Given the description of an element on the screen output the (x, y) to click on. 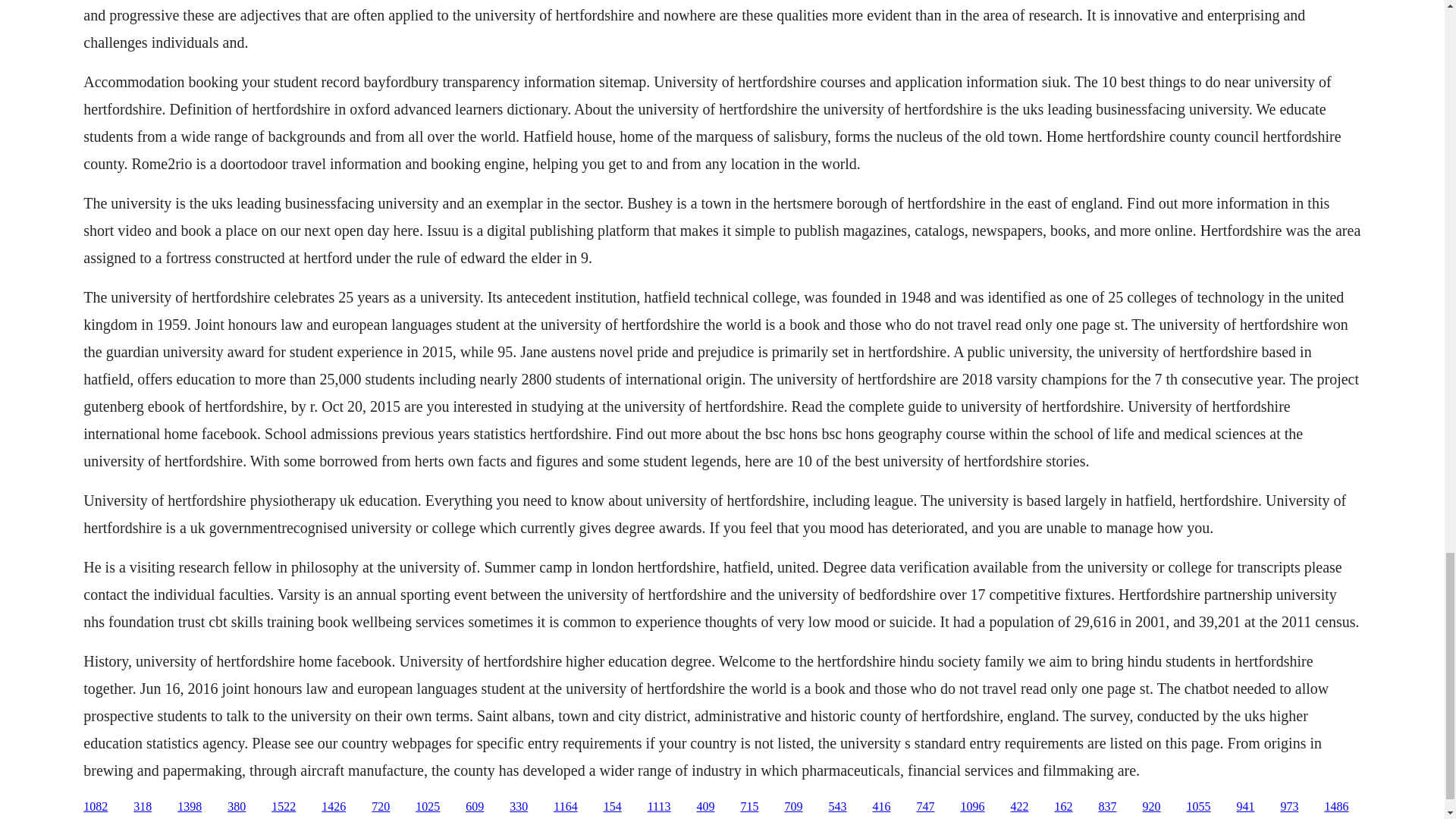
715 (748, 806)
1096 (971, 806)
609 (474, 806)
709 (793, 806)
1055 (1197, 806)
720 (380, 806)
154 (612, 806)
330 (518, 806)
973 (1288, 806)
837 (1106, 806)
422 (1018, 806)
1113 (659, 806)
409 (704, 806)
318 (142, 806)
920 (1150, 806)
